Given the description of an element on the screen output the (x, y) to click on. 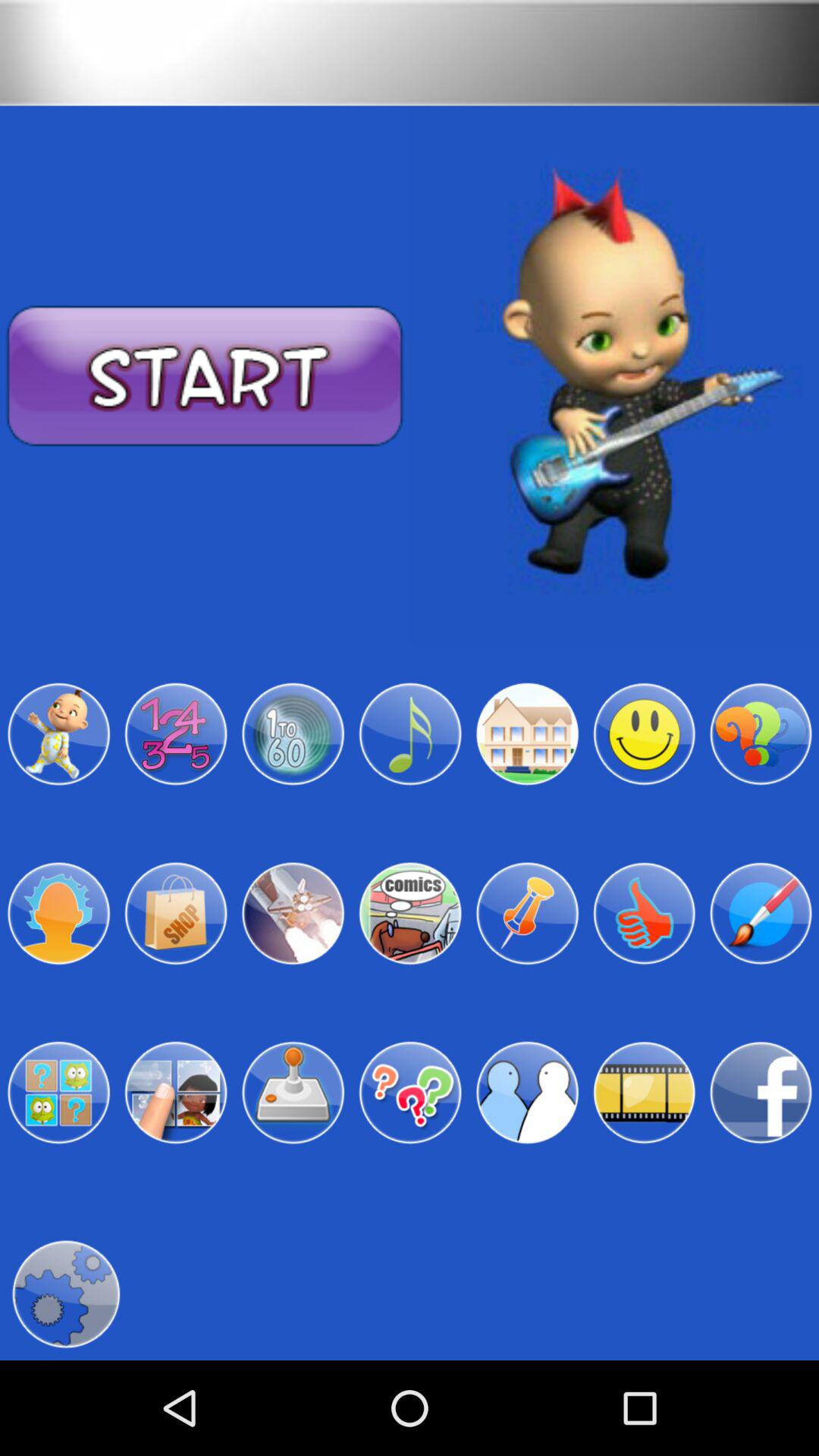
tap setting (65, 1294)
